Given the description of an element on the screen output the (x, y) to click on. 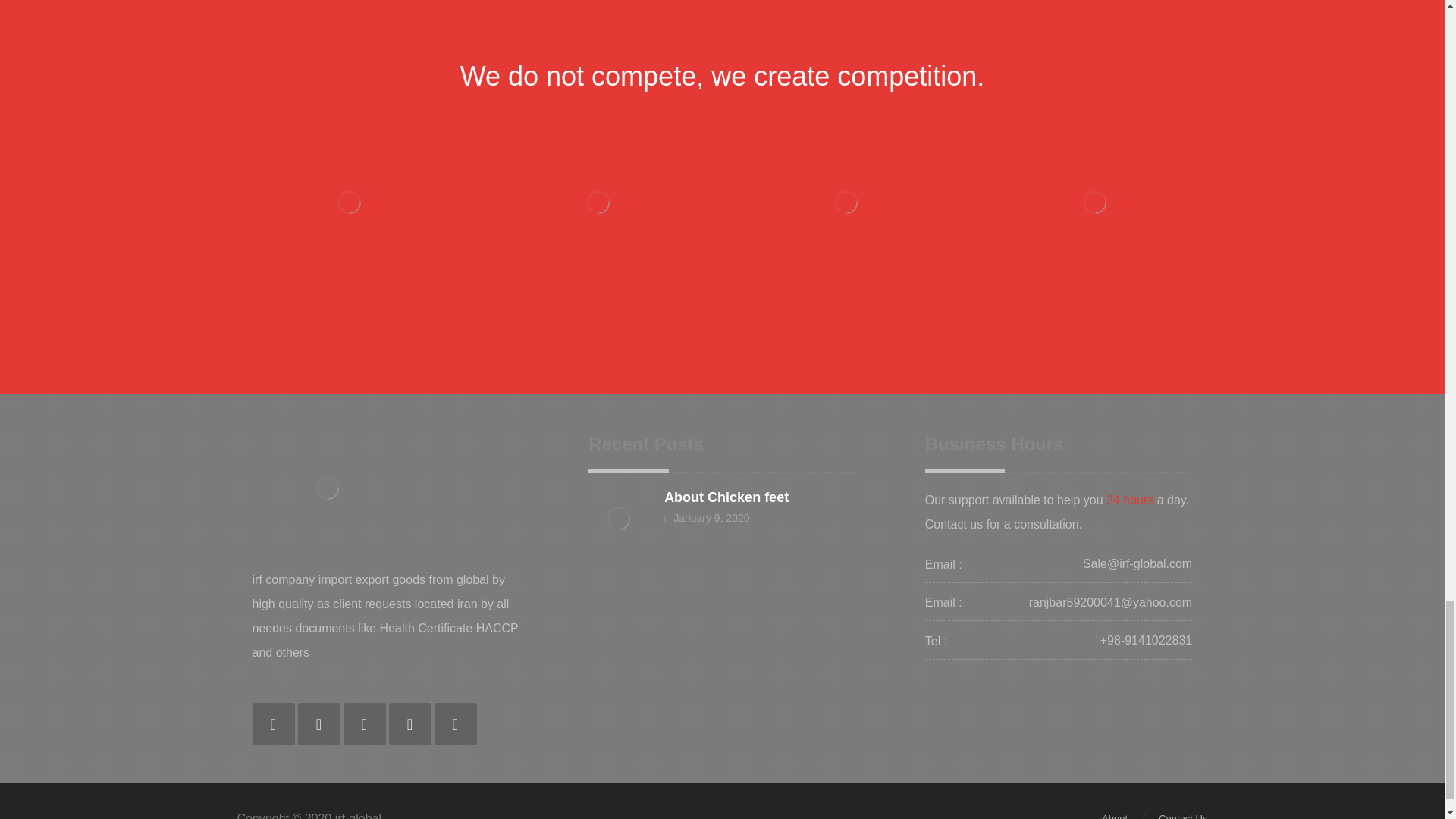
Whatsapp (318, 723)
About Chicken feet (726, 497)
About (1114, 815)
Instagram (363, 723)
Contact Us (1182, 815)
Linkedin (409, 723)
Youtube (454, 723)
About Chicken feet (726, 497)
About Chicken feet (618, 518)
datacss.ir (469, 815)
